Given the description of an element on the screen output the (x, y) to click on. 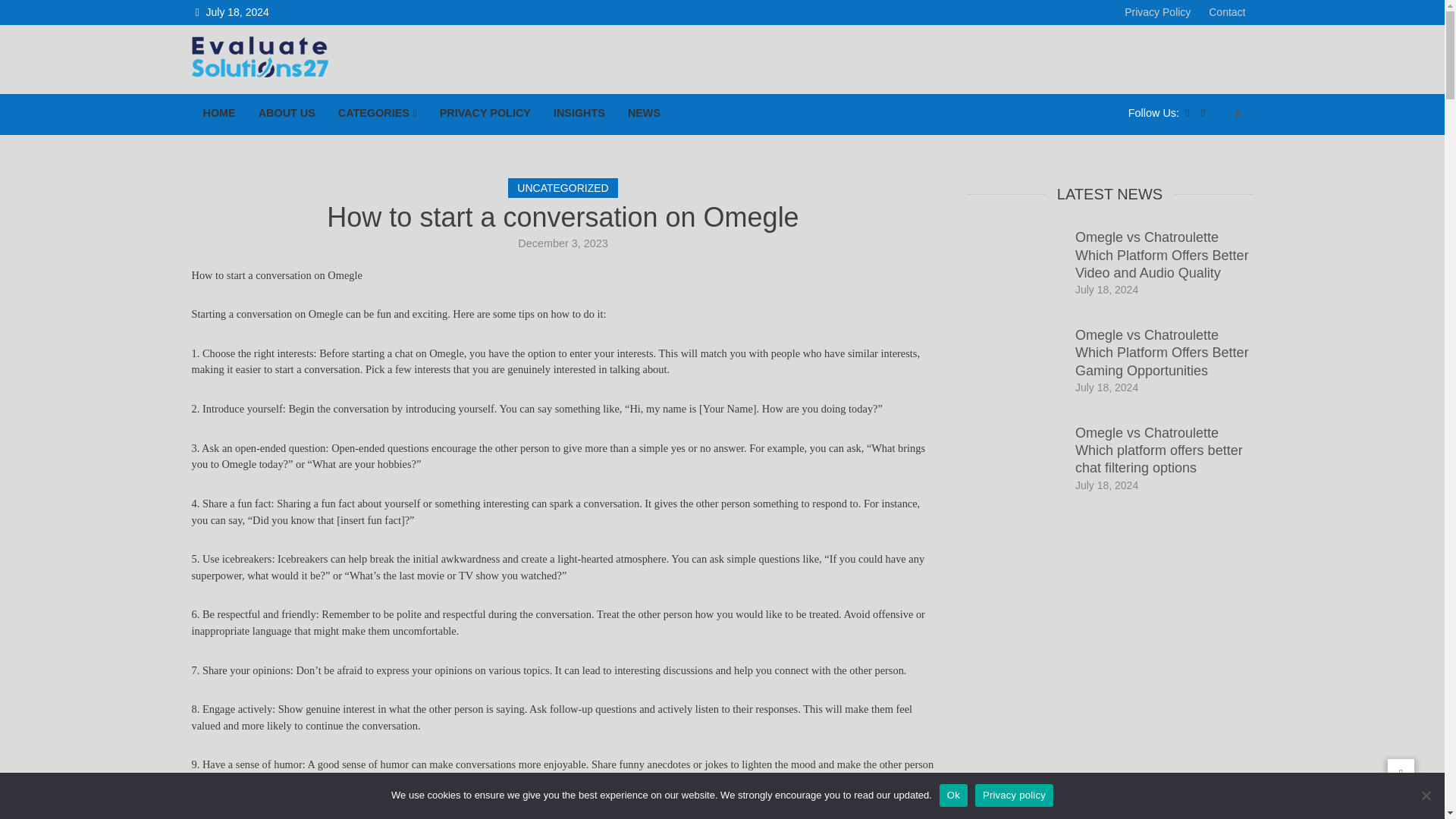
December 3, 2023 (562, 243)
ABOUT US (286, 113)
CATEGORIES (377, 113)
Privacy Policy (1157, 12)
July 18, 2024 (1106, 485)
PRIVACY POLICY (484, 113)
Evaluate Solutions 27 (302, 98)
UNCATEGORIZED (562, 188)
NEWS (643, 113)
July 18, 2024 (1106, 289)
HOME (218, 113)
INSIGHTS (578, 113)
